Given the description of an element on the screen output the (x, y) to click on. 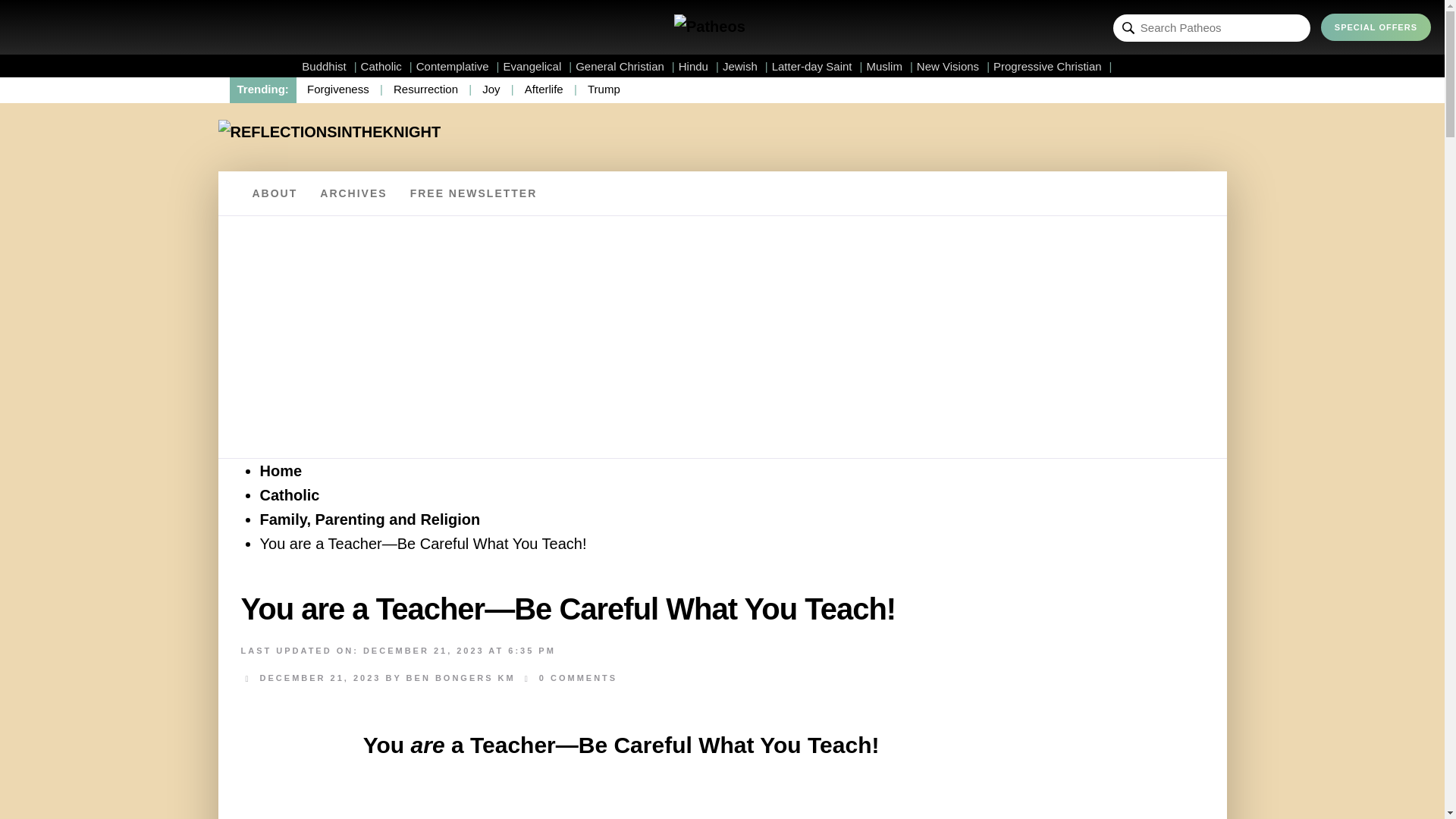
Contemplative (457, 65)
New Visions (953, 65)
Progressive Christian (1052, 65)
Hindu (698, 65)
Latter-day Saint (817, 65)
SPECIAL OFFERS (1375, 26)
Jewish (745, 65)
Evangelical (537, 65)
Muslim (889, 65)
Catholic (386, 65)
